Given the description of an element on the screen output the (x, y) to click on. 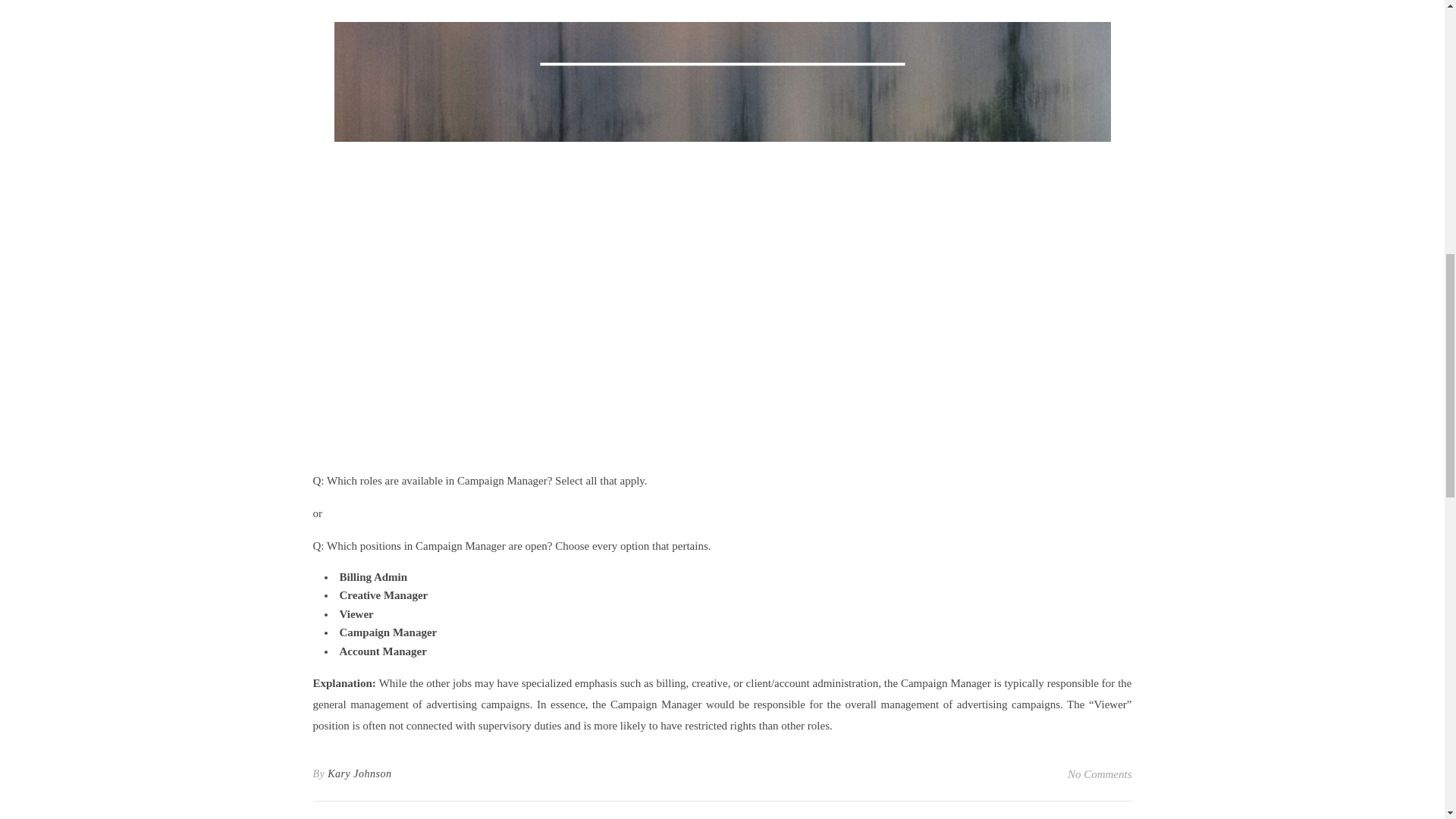
Kary Johnson (359, 773)
No Comments (1099, 773)
Posts by Kary Johnson (359, 773)
